Given the description of an element on the screen output the (x, y) to click on. 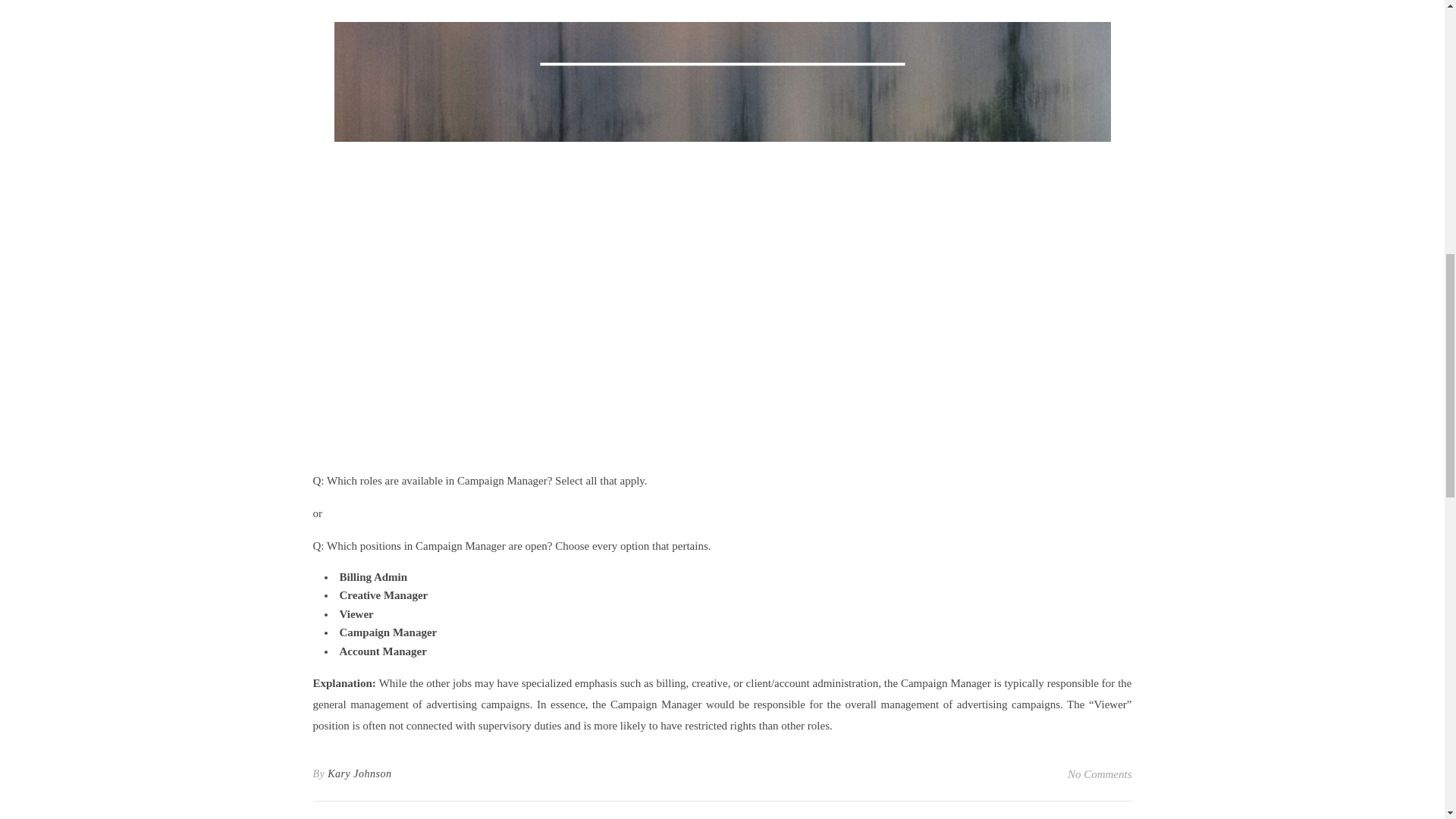
Kary Johnson (359, 773)
No Comments (1099, 773)
Posts by Kary Johnson (359, 773)
